Given the description of an element on the screen output the (x, y) to click on. 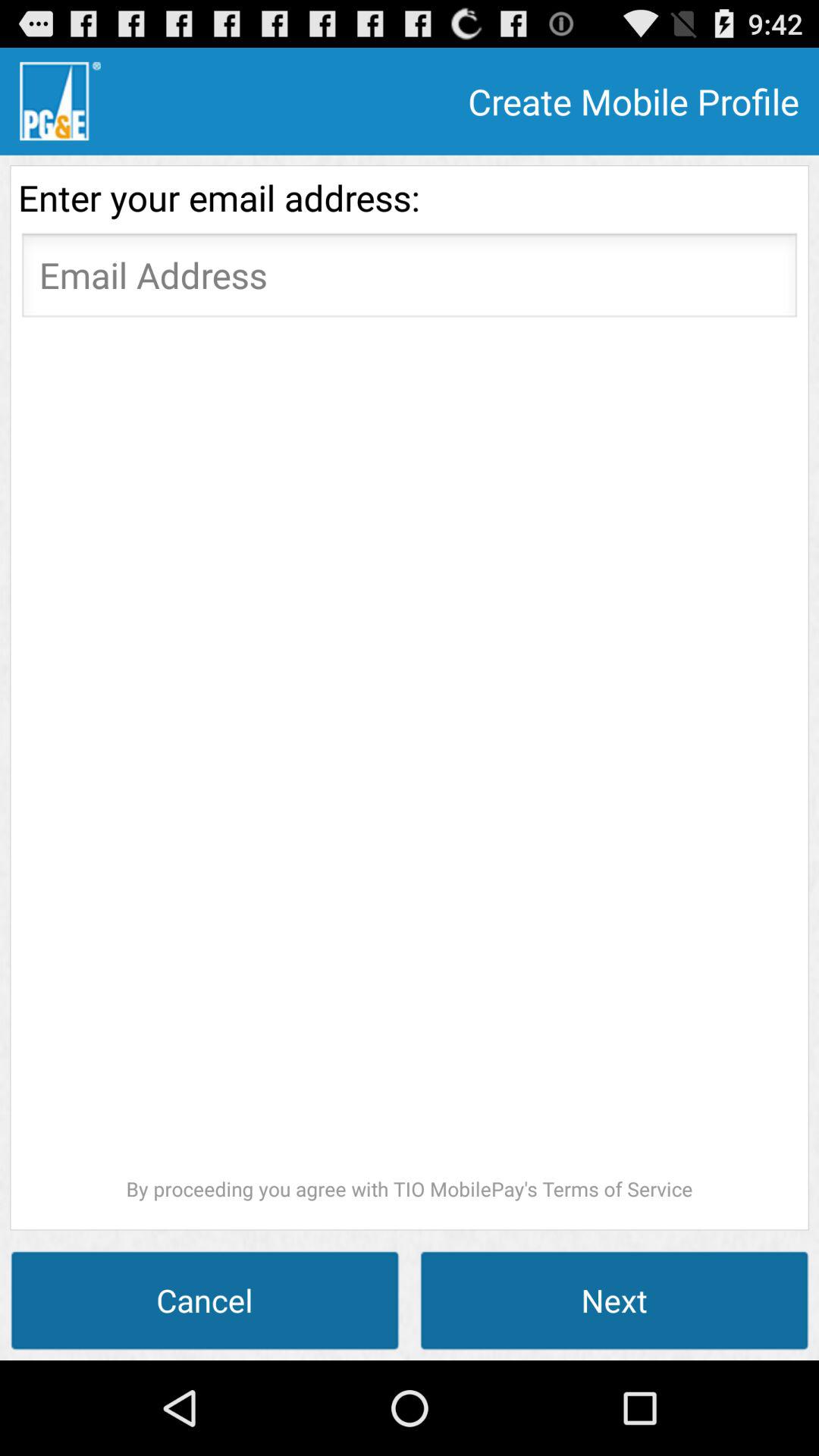
select the next at the bottom right corner (613, 1300)
